Given the description of an element on the screen output the (x, y) to click on. 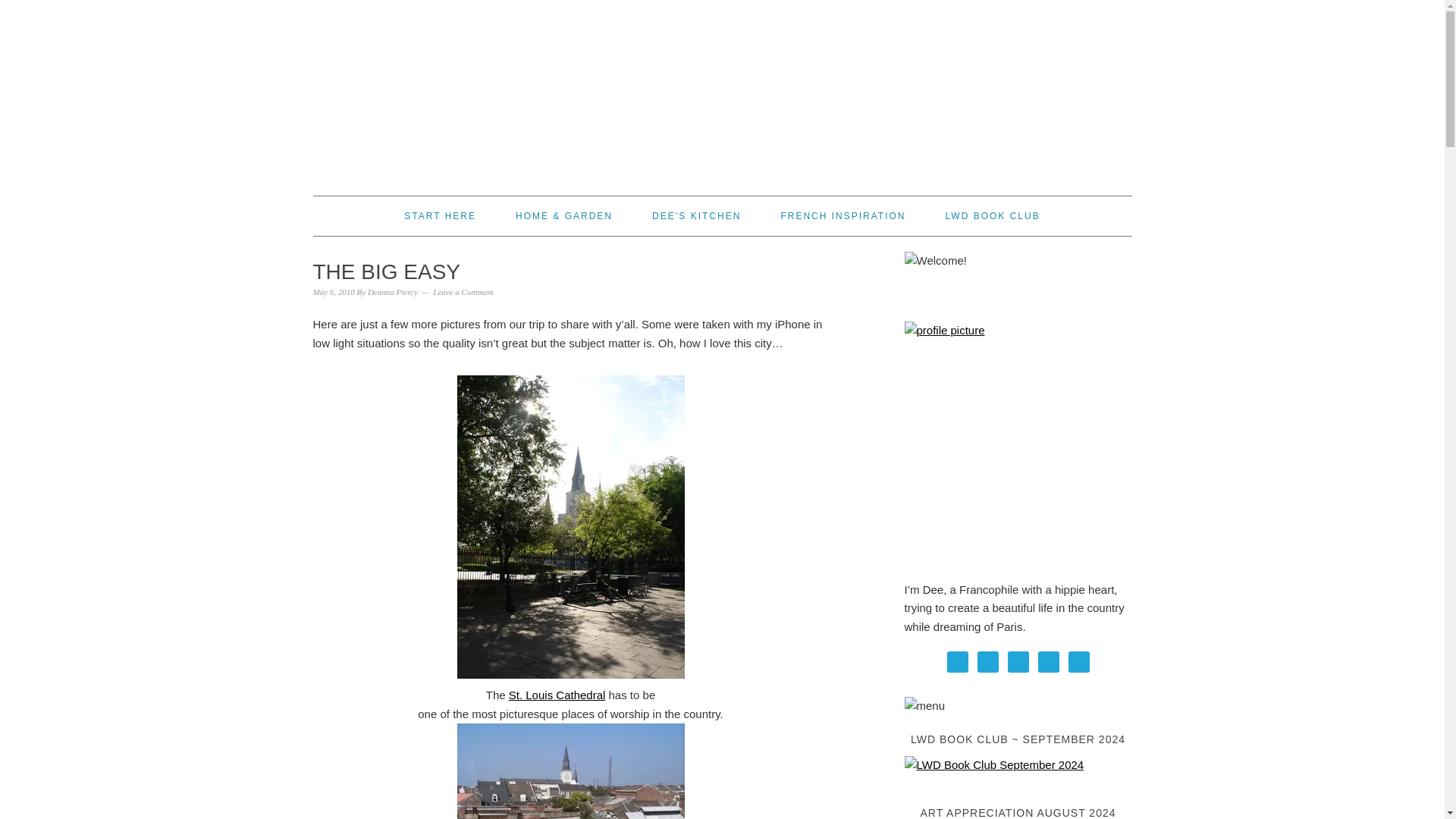
LIFE WITH DEE (722, 91)
START HERE (440, 215)
Deanna Piercy (392, 291)
St. Louis Cathedral (556, 694)
LWD BOOK CLUB (992, 215)
Leave a Comment (462, 291)
FRENCH INSPIRATION (842, 215)
